Given the description of an element on the screen output the (x, y) to click on. 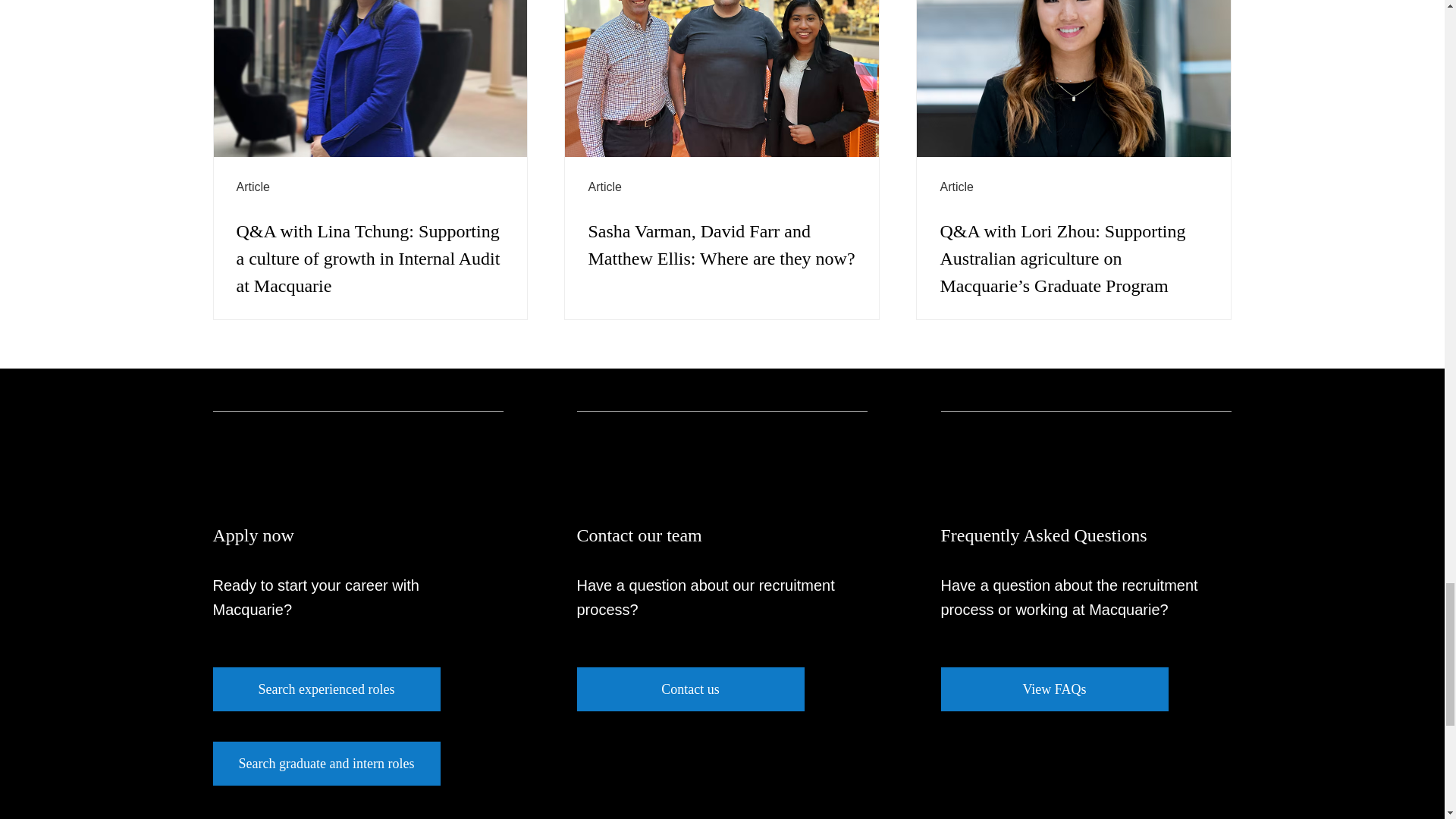
View FAQs (1053, 689)
Contact us (689, 689)
Search experienced roles (325, 689)
Search graduate and intern roles (325, 763)
